Given the description of an element on the screen output the (x, y) to click on. 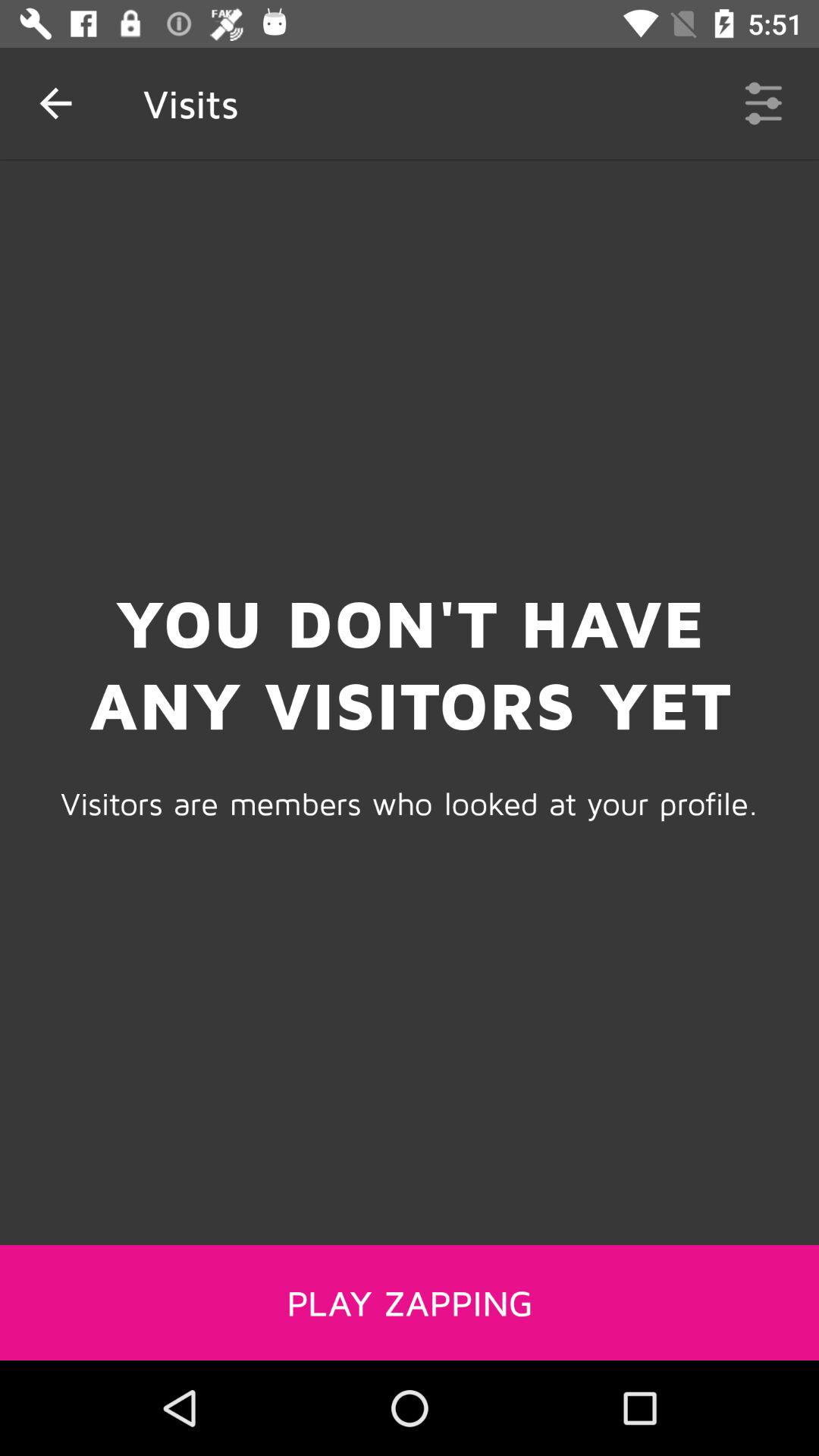
click the item next to the visits item (55, 103)
